Given the description of an element on the screen output the (x, y) to click on. 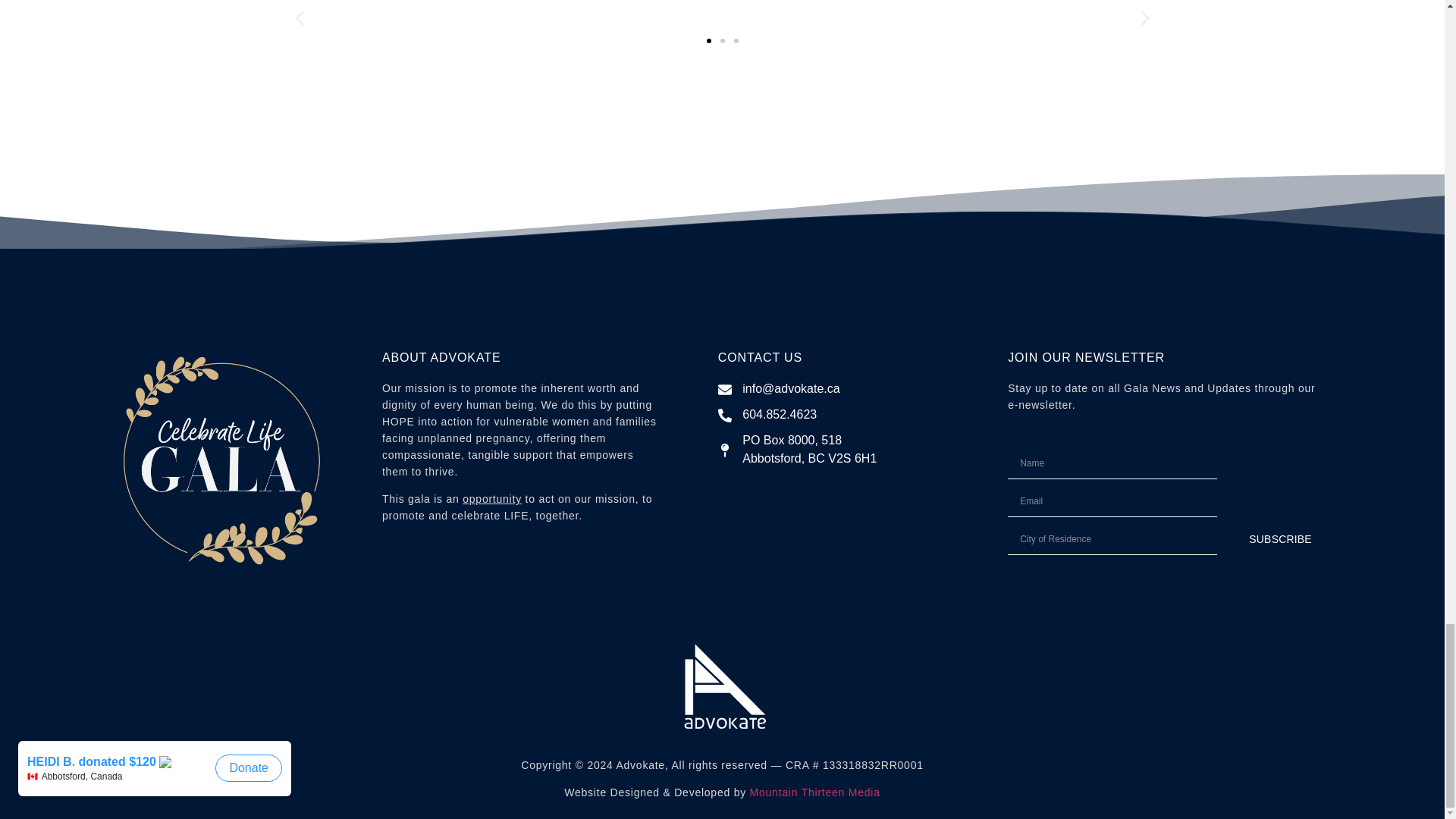
SUBSCRIBE (1280, 539)
Mountain Thirteen Media (814, 792)
604.852.4623 (832, 414)
